Given the description of an element on the screen output the (x, y) to click on. 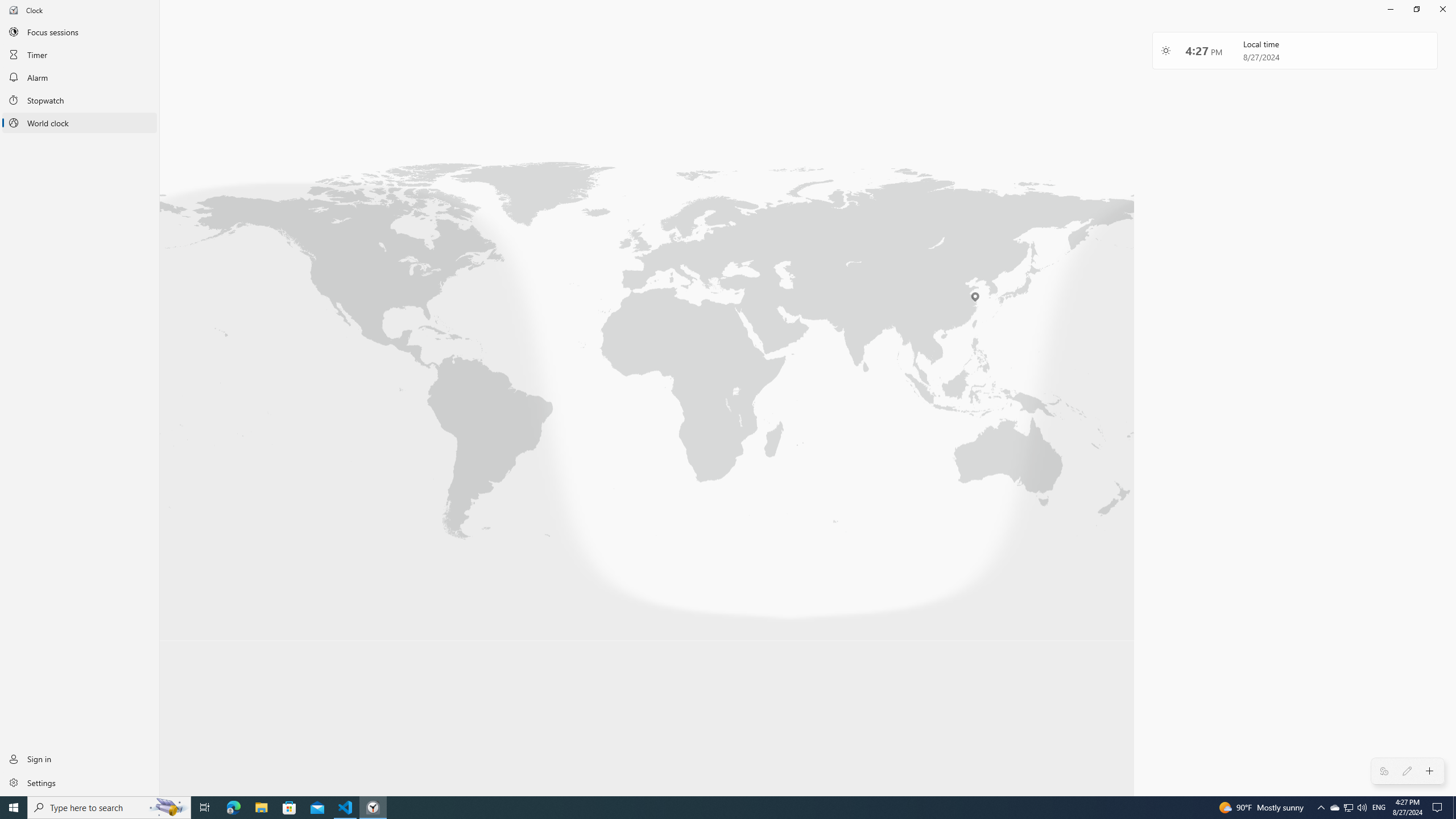
Sign in (79, 758)
Add a new city (1429, 770)
Clock - 1 running window (373, 807)
Restore Clock (1416, 9)
Edit Clocks (1407, 770)
Settings (79, 782)
Alarm (79, 77)
